Given the description of an element on the screen output the (x, y) to click on. 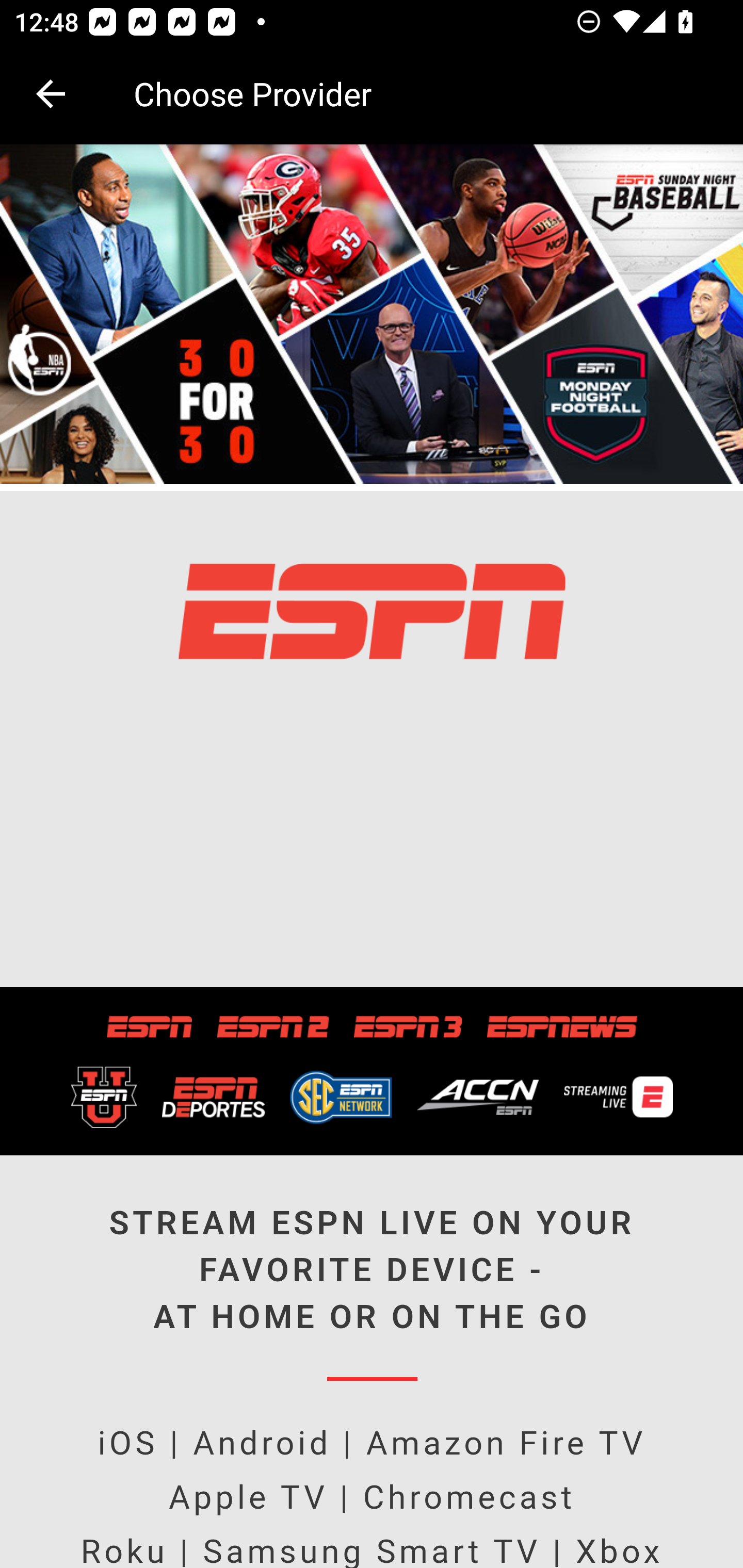
Navigate up (50, 93)
